Given the description of an element on the screen output the (x, y) to click on. 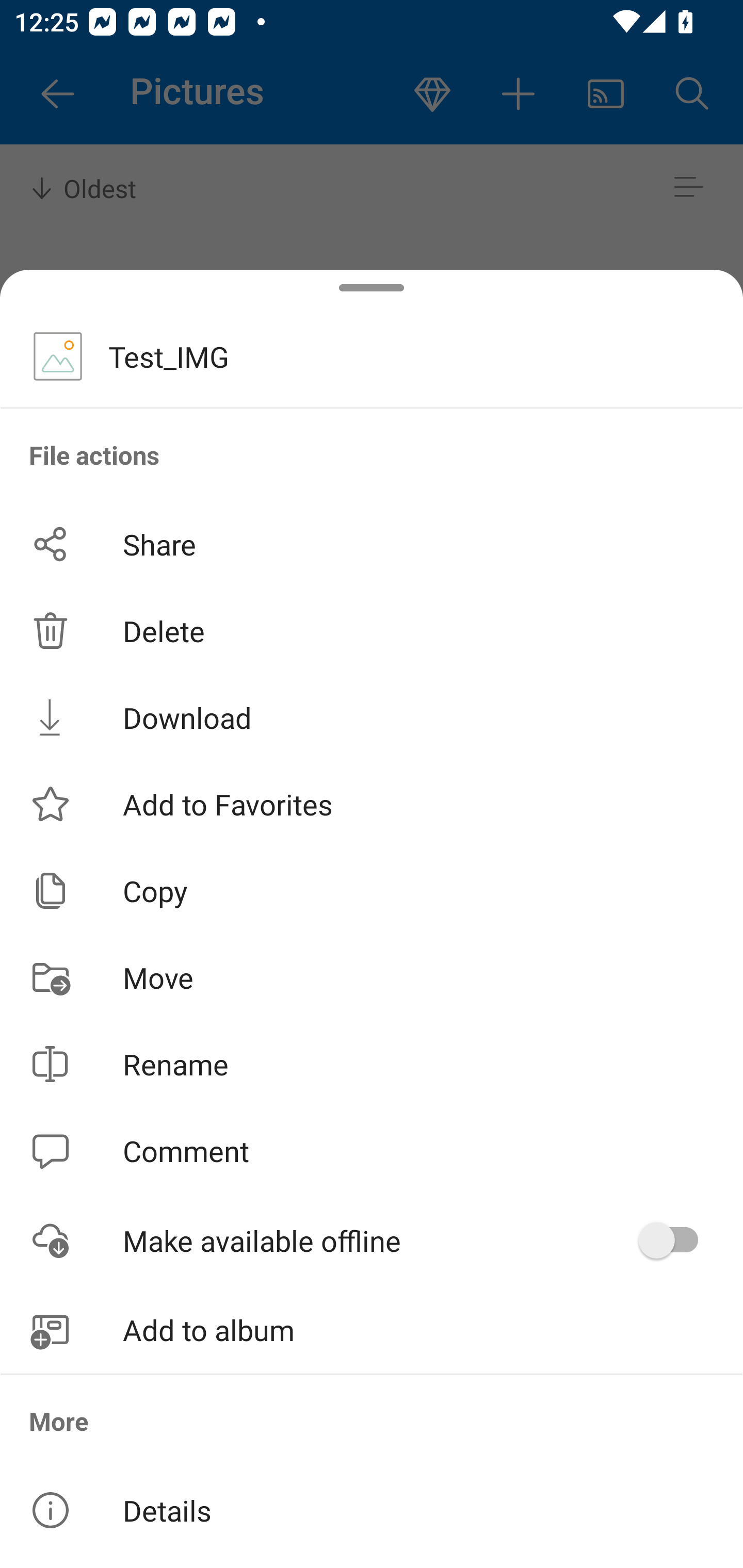
Share button Share (371, 544)
Delete button Delete (371, 631)
Download button Download (371, 717)
Add to Favorites button Add to Favorites (371, 803)
Copy button Copy (371, 890)
Move button Move (371, 977)
Rename button Rename (371, 1063)
Comment button Comment (371, 1150)
Make offline operation (674, 1240)
Add to album button Add to album (371, 1329)
Details button Details (371, 1510)
